Given the description of an element on the screen output the (x, y) to click on. 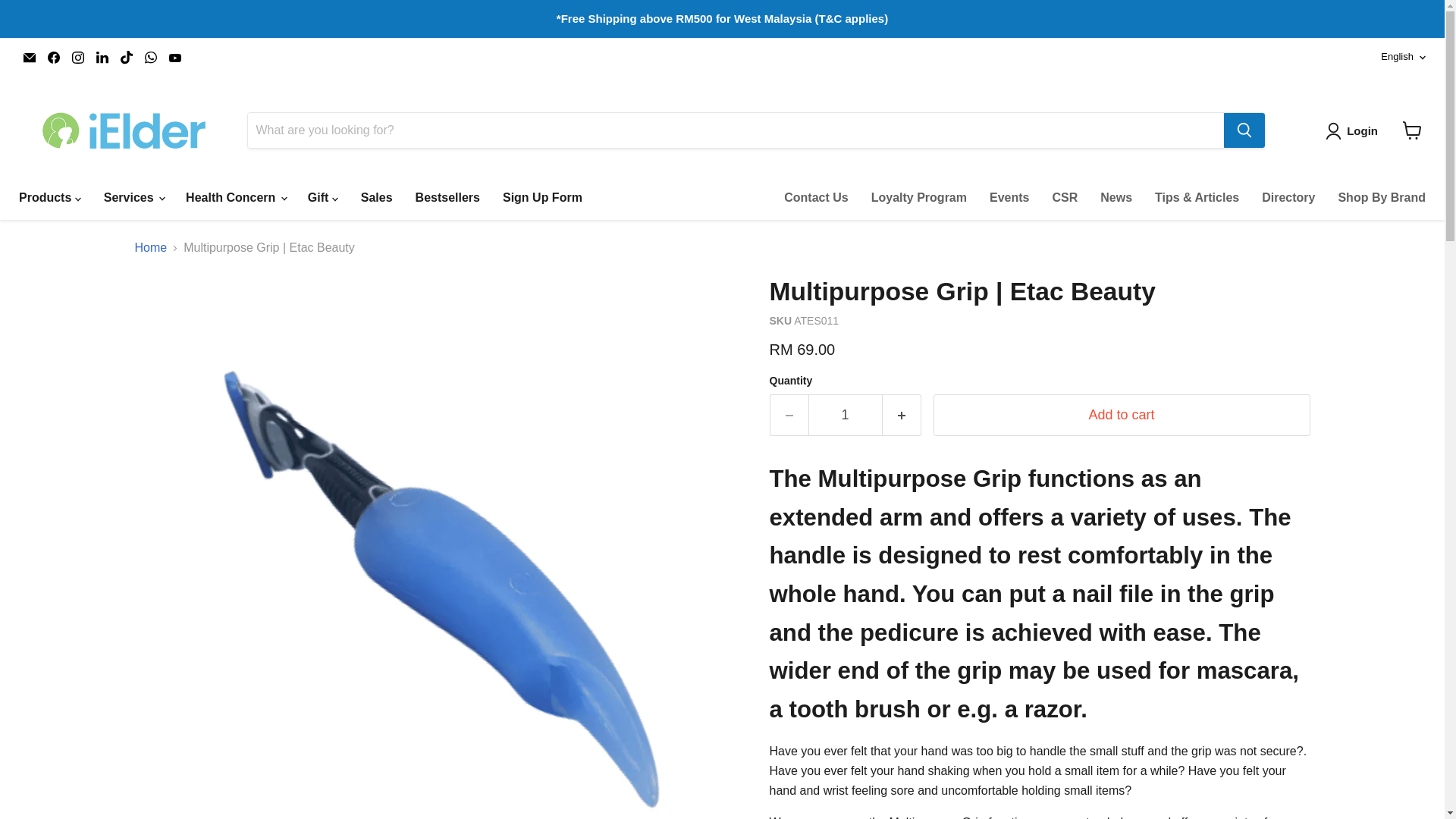
Find us on YouTube (175, 56)
Find us on Facebook (53, 56)
WhatsApp (150, 56)
LinkedIn (102, 56)
Facebook (53, 56)
Find us on LinkedIn (102, 56)
YouTube (175, 56)
Find us on TikTok (126, 56)
Instagram (77, 56)
Find us on WhatsApp (150, 56)
View cart (1411, 130)
Email iElder.Asia (29, 56)
1 (845, 414)
Email (29, 56)
Find us on Instagram (77, 56)
